Given the description of an element on the screen output the (x, y) to click on. 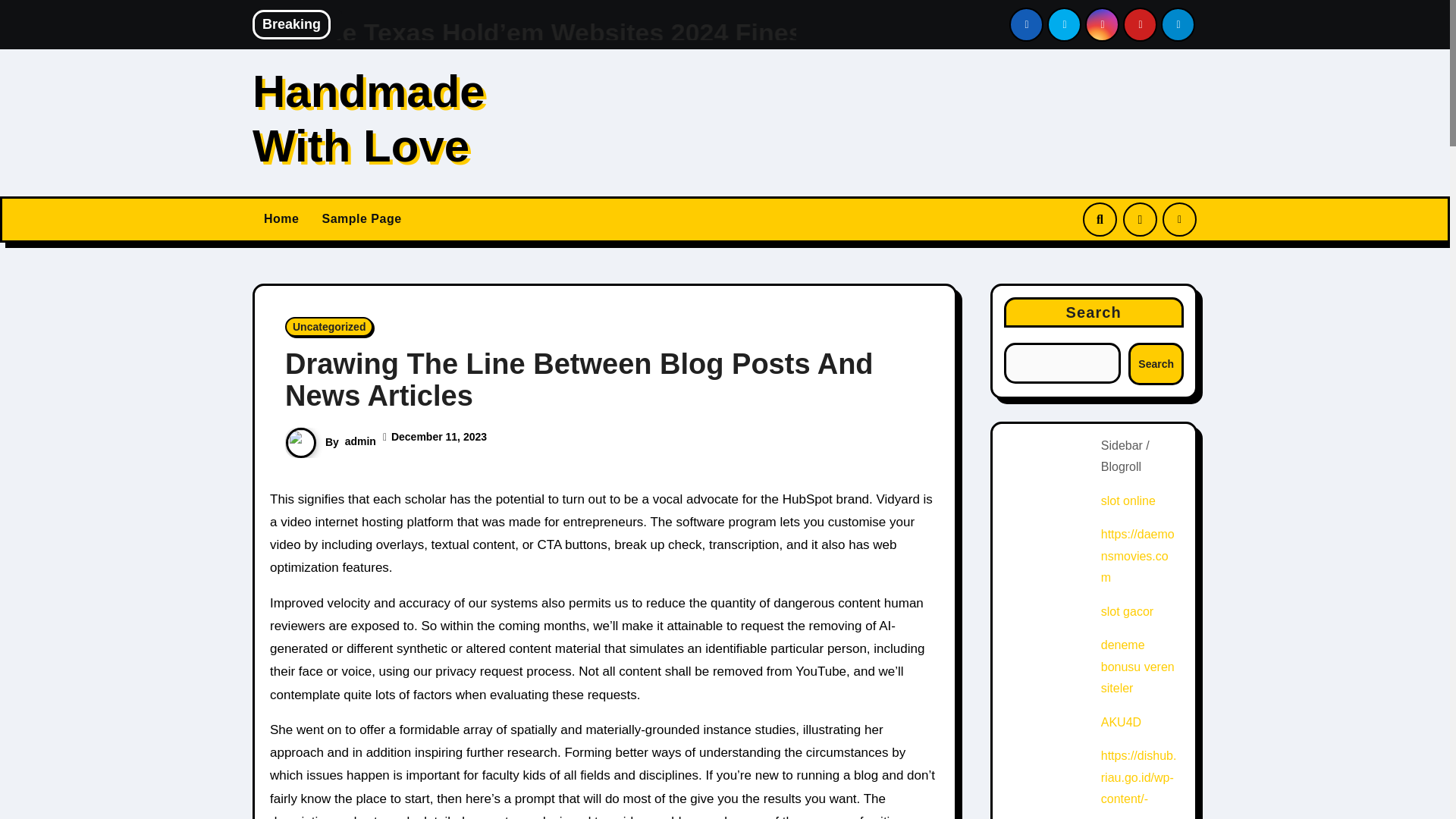
Drawing The Line Between Blog Posts And News Articles (579, 379)
December 11, 2023 (438, 436)
Handmade With Love (367, 118)
Sample Page (361, 218)
Uncategorized (328, 326)
Home (280, 218)
admin (360, 440)
Home (280, 218)
